Given the description of an element on the screen output the (x, y) to click on. 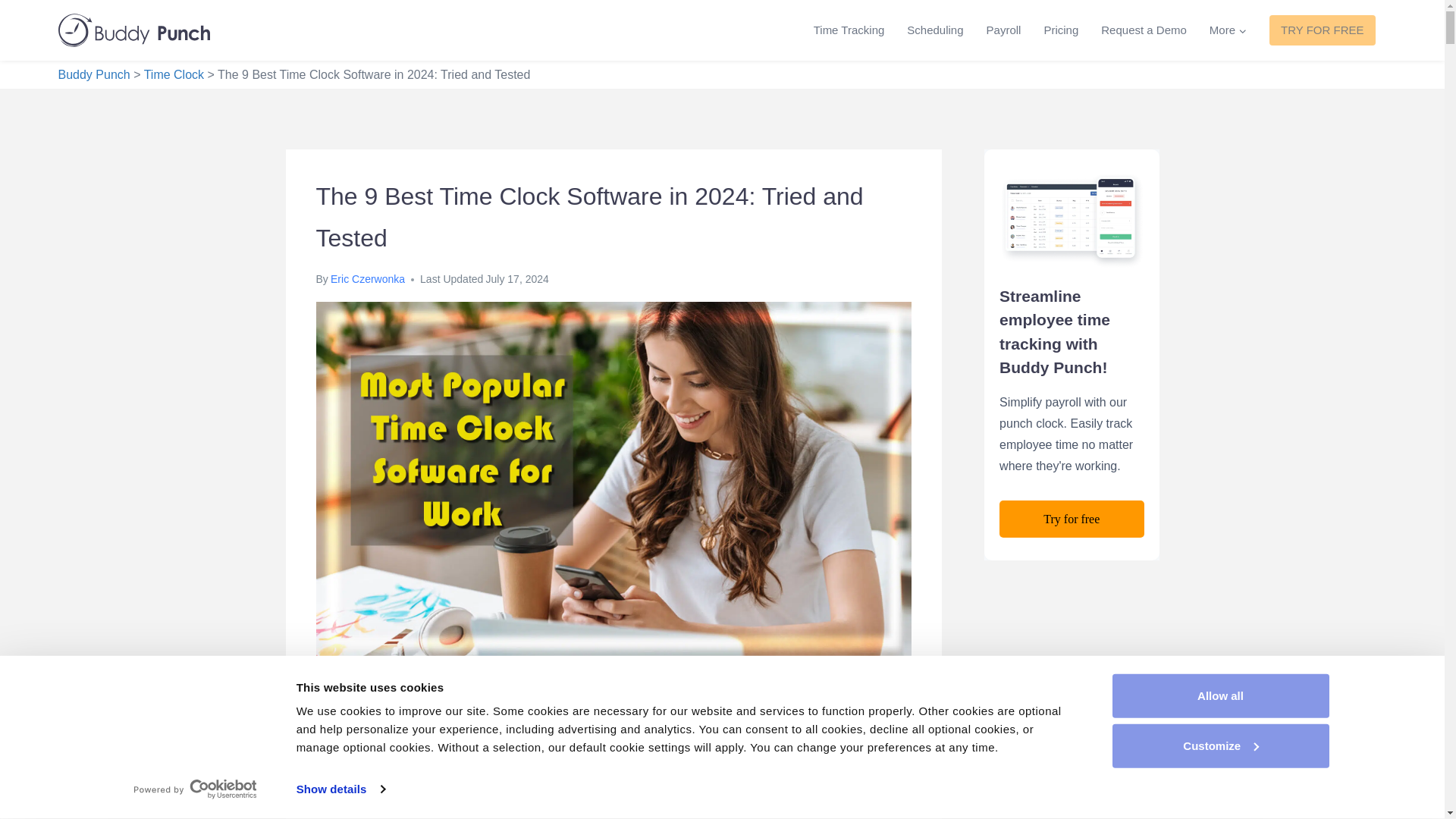
Show details (340, 789)
